Given the description of an element on the screen output the (x, y) to click on. 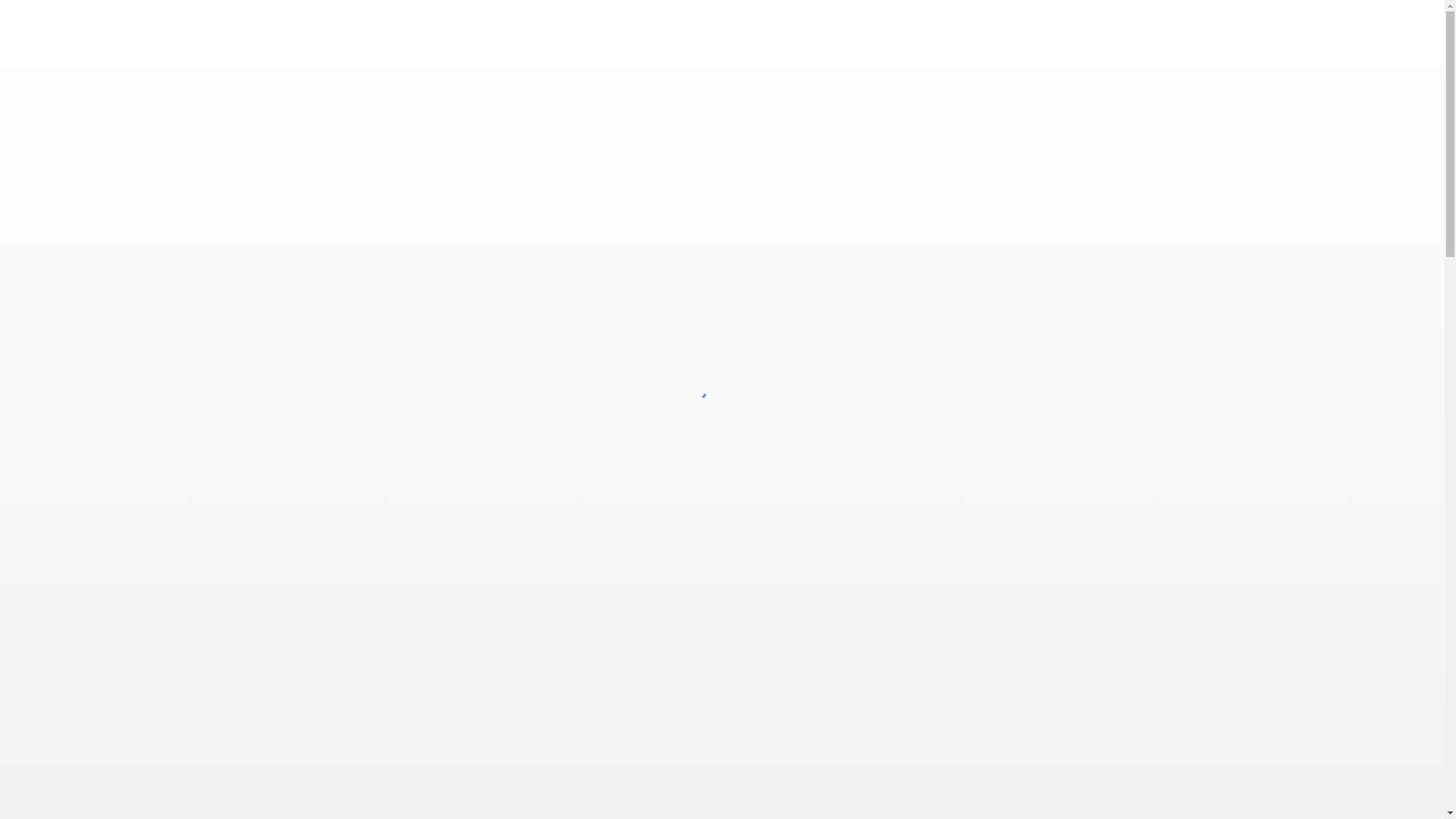
Engels voor Beginners Element type: text (721, 802)
Financieel Manager Element type: text (993, 711)
Voordelen Element type: text (1104, 21)
Facebook Professioneel Element type: text (993, 693)
Creatieve Therapie Element type: text (993, 413)
Bedrijfsbeheer Element type: text (721, 322)
Cursusaanbod Element type: text (954, 21)
Autismecoach Element type: text (450, 450)
Boekhouden Allround Element type: text (721, 450)
Cyber Crime Specialist Element type: text (993, 468)
Functioneringsgesprek voeren Element type: text (993, 802)
Dreamweaver Element type: text (450, 747)
Administratieve vaardigheden Element type: text (450, 395)
Businessmanager - Allround Element type: text (721, 614)
Proefles Element type: text (1035, 21)
Bedrijfsfilosofie Element type: text (721, 377)
Change Manager Element type: text (993, 322)
Business Success Coach Element type: text (721, 595)
Boekhoudkantoor medewerker Element type: text (721, 504)
Corporate E-Learnings Element type: text (993, 395)
Boekhouden Basis Element type: text (721, 468)
Emotiemanagement Element type: text (721, 729)
Balanslezen Element type: text (721, 304)
Hoe werkt het? Element type: text (1186, 21)
Dementie - Omgaan met Element type: text (450, 711)
Budgetcoach Element type: text (721, 541)
Administratief Bediende Element type: text (450, 359)
Accountmanager Element type: text (450, 341)
Inschrijven Element type: text (1390, 21)
Criminologie Element type: text (993, 432)
Engels - Gevorderden Element type: text (721, 765)
Crisismanager Element type: text (993, 450)
Blockchain en Cryptocurrencies Element type: text (721, 432)
Engels -Zakelijke Communicatie Element type: text (721, 784)
Boekhouden Gevorderden Element type: text (721, 486)
Access Element type: text (450, 322)
Burn-outcoach Element type: text (721, 577)
Bedrijfscoach Element type: text (721, 341)
Engels - Expert Element type: text (721, 747)
Contact Element type: text (1266, 21)
Bedrijfskunde Element type: text (721, 395)
Meld je bedrijf aan Element type: text (845, 21)
Administratieve Freelancer Element type: text (450, 377)
Casual Networking Element type: text (993, 304)
Assertiviteitstraining Element type: text (450, 432)
Front End Developer ICT Element type: text (993, 784)
Duits Beginners Element type: text (450, 765)
Beleggen Basis Element type: text (721, 413)
Burgerlijk en Handelsrecht TSO Element type: text (721, 559)
ADHD - Omgaan met Element type: text (450, 304)
E-Marketing Element type: text (721, 693)
Frans Beginners Element type: text (993, 729)
Frans Gevorderden Element type: text (993, 747)
Bedrijfseconomie TSO Element type: text (721, 359)
Chinees Element type: text (993, 341)
Economie Basis Element type: text (721, 711)
Communicatiemanager Element type: text (993, 377)
Commercieel Medewerker Element type: text (993, 359)
Dactylo Element type: text (450, 693)
Digitale Marketing - Allround Element type: text (450, 729)
Brandmanager Element type: text (721, 523)
Angstcoaching Element type: text (450, 413)
